Given the description of an element on the screen output the (x, y) to click on. 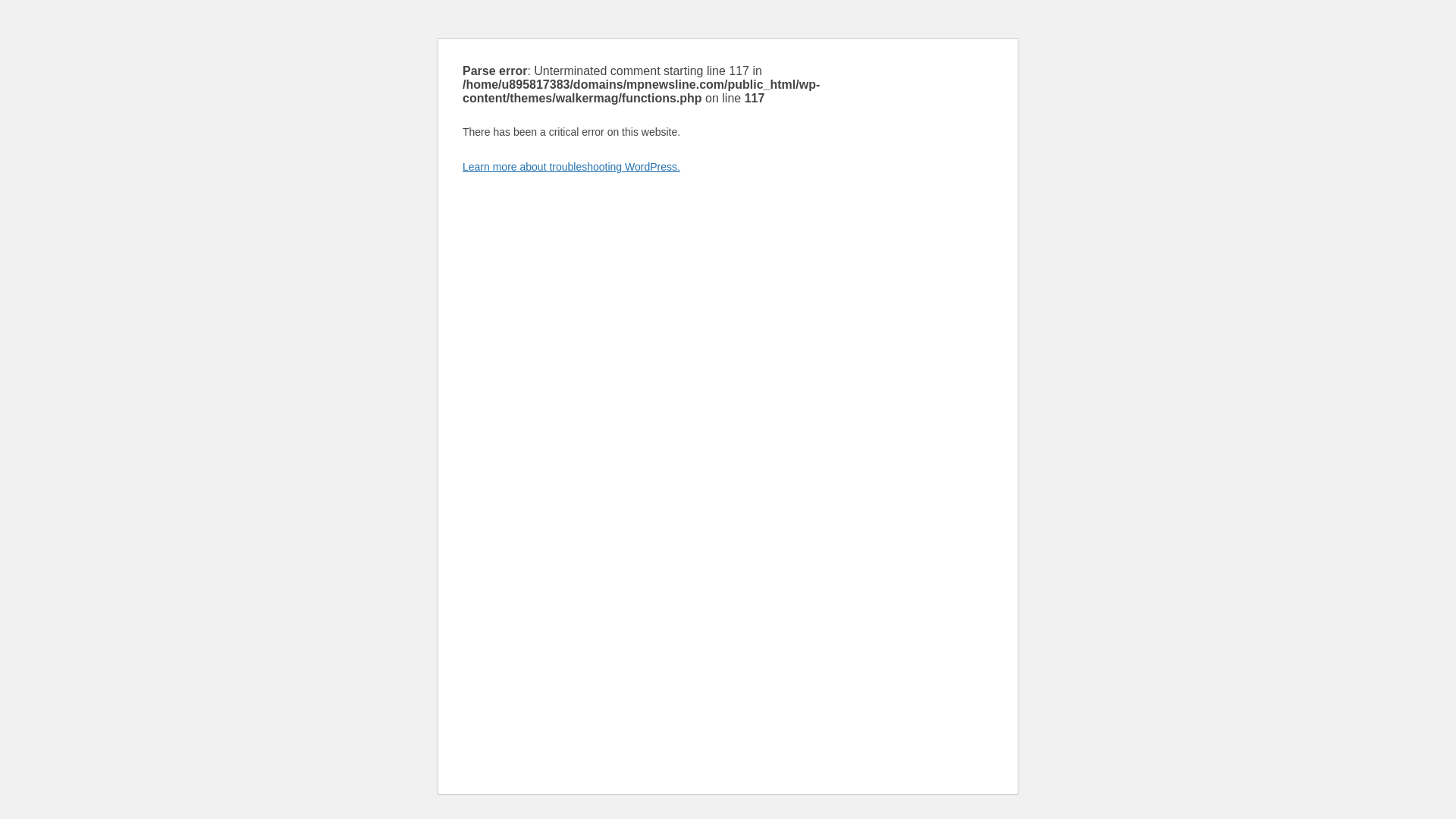
Learn more about troubleshooting WordPress. (571, 166)
